Given the description of an element on the screen output the (x, y) to click on. 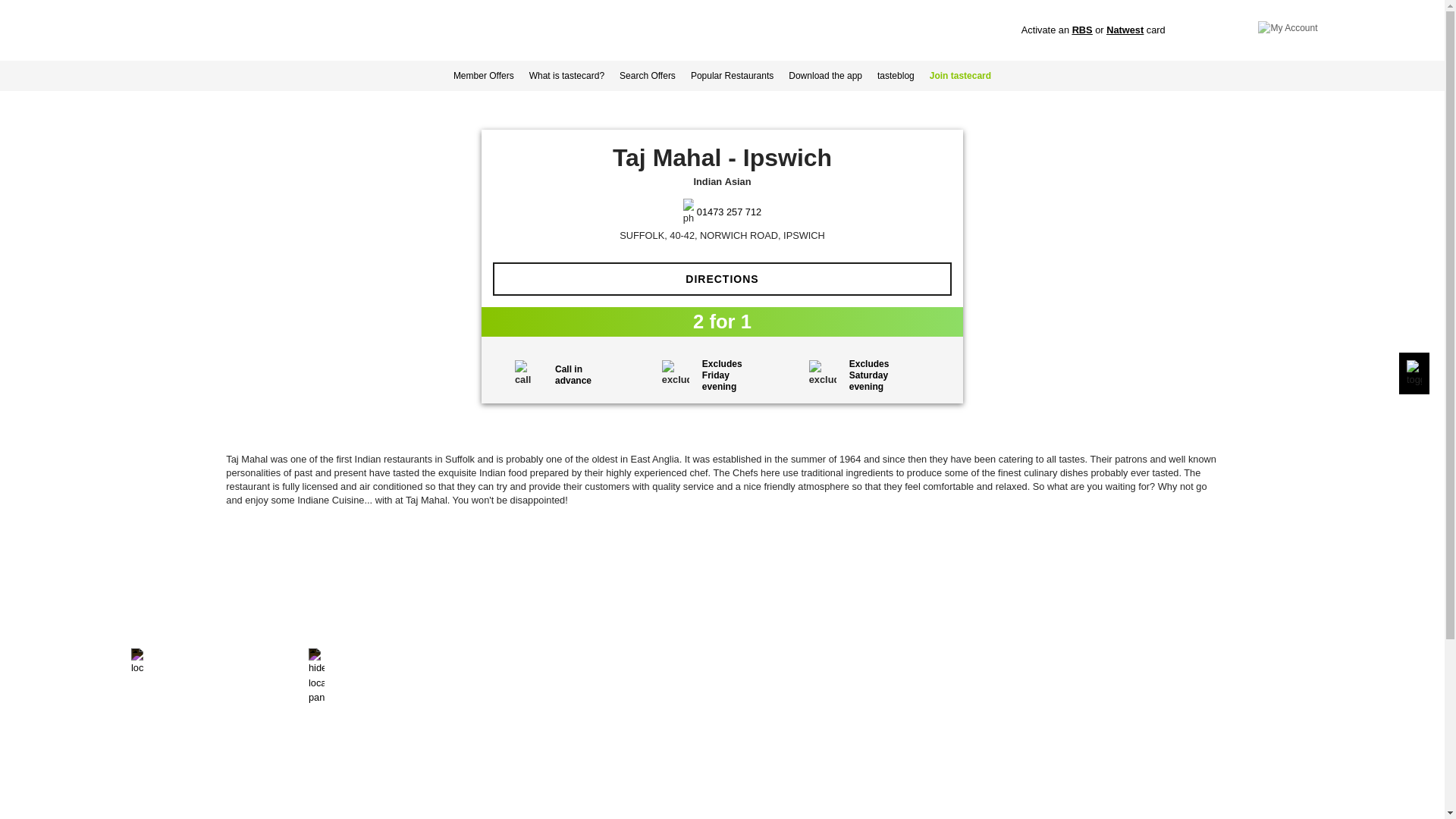
Member Offers (483, 75)
Natwest (1124, 30)
What is tastecard? (566, 75)
DIRECTIONS (722, 278)
RBS (1082, 30)
Join tastecard (959, 75)
Popular Restaurants (731, 75)
tasteblog (895, 75)
Search Offers (646, 75)
01473 257 712 (729, 211)
